Given the description of an element on the screen output the (x, y) to click on. 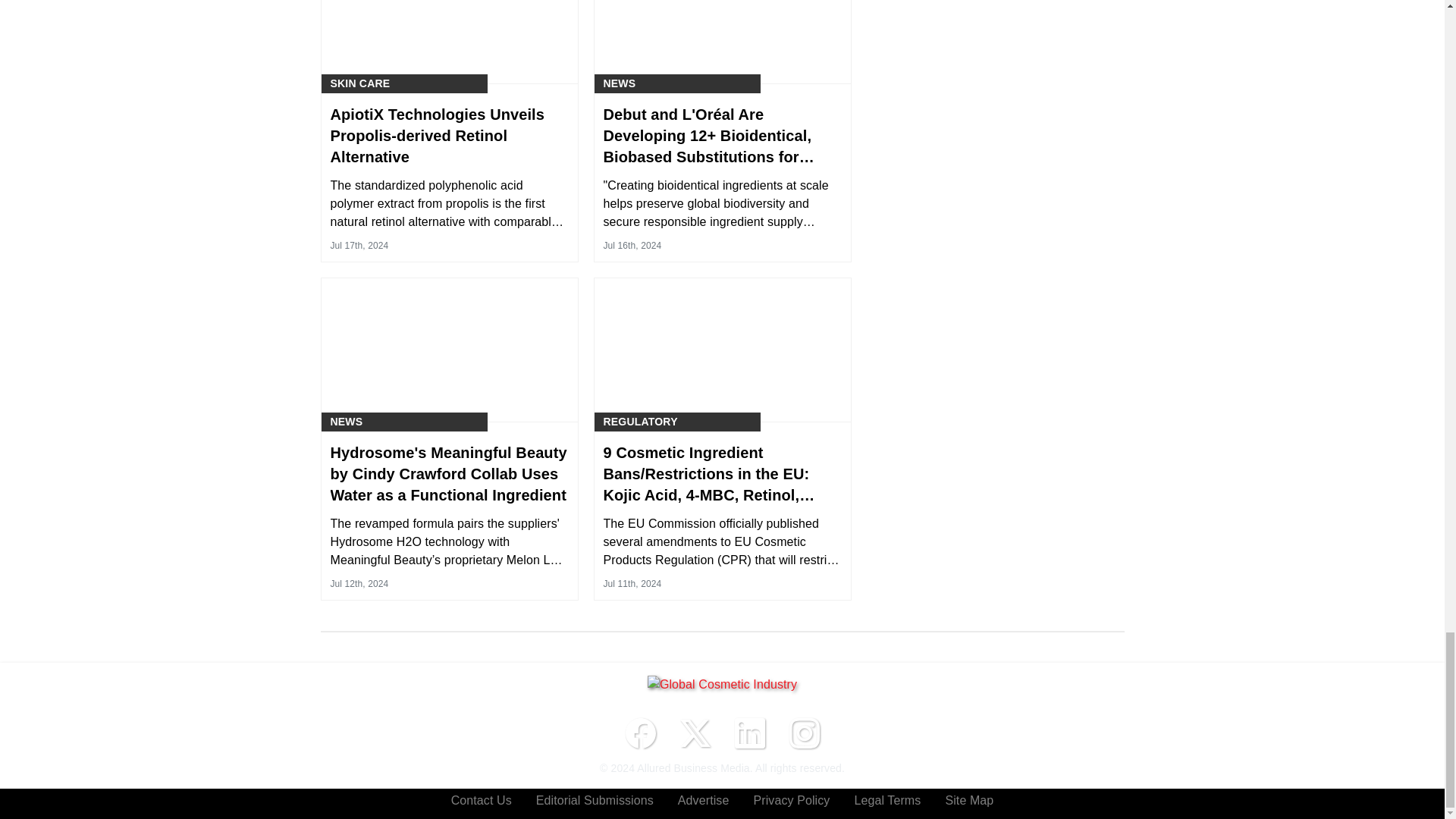
Twitter X icon (694, 733)
Instagram icon (803, 733)
LinkedIn icon (748, 733)
Facebook icon (639, 733)
